Given the description of an element on the screen output the (x, y) to click on. 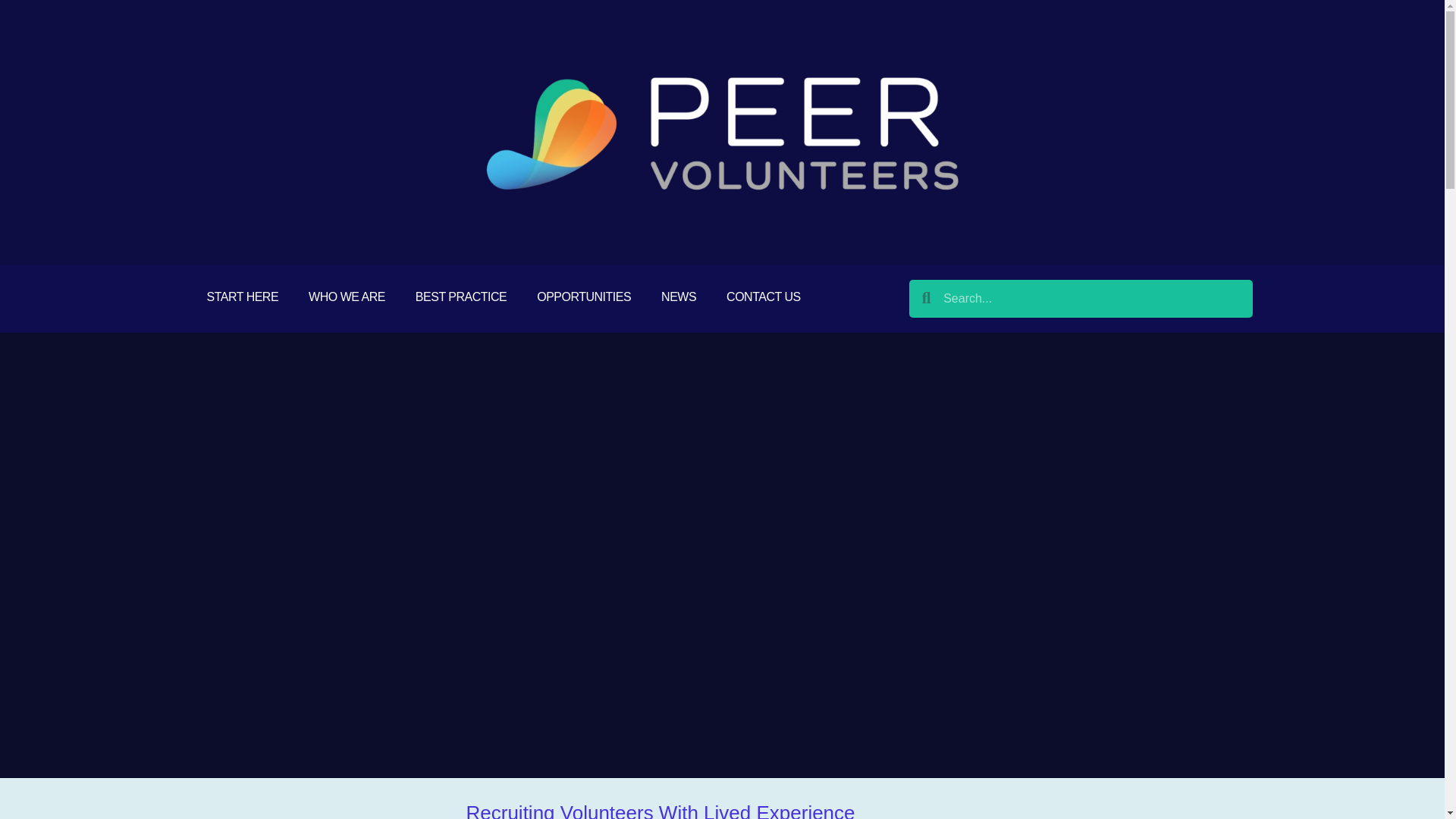
START HERE (242, 297)
NEWS (678, 297)
CONTACT US (763, 297)
WHO WE ARE (347, 297)
BEST PRACTICE (460, 297)
OPPORTUNITIES (583, 297)
